Given the description of an element on the screen output the (x, y) to click on. 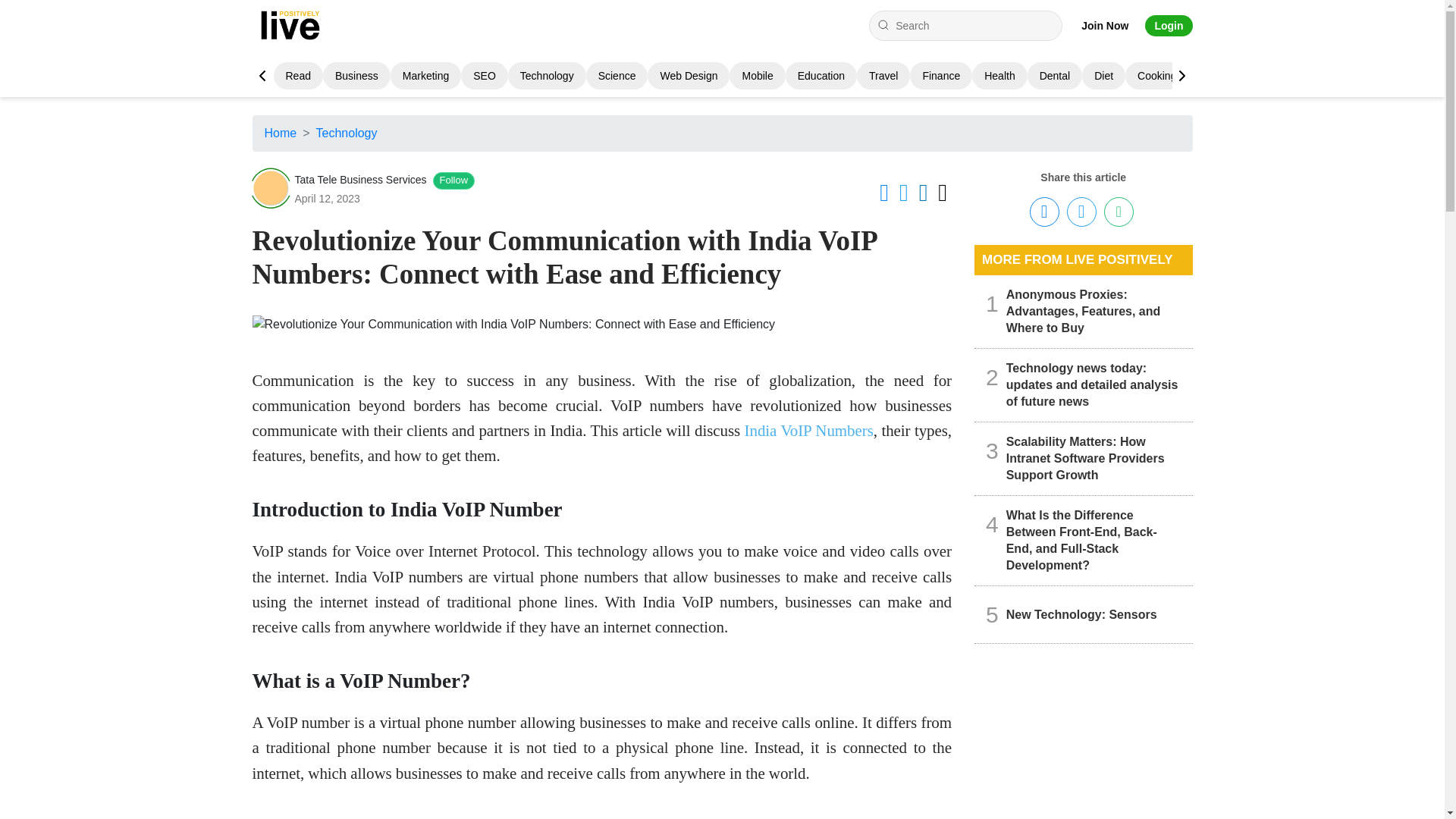
Login (1168, 25)
SEO (484, 75)
Health (999, 75)
Business (356, 75)
Education (820, 75)
Travel (883, 75)
Marketing (425, 75)
Cooking (1156, 75)
Mobile (757, 75)
Share via Email (1118, 211)
